Given the description of an element on the screen output the (x, y) to click on. 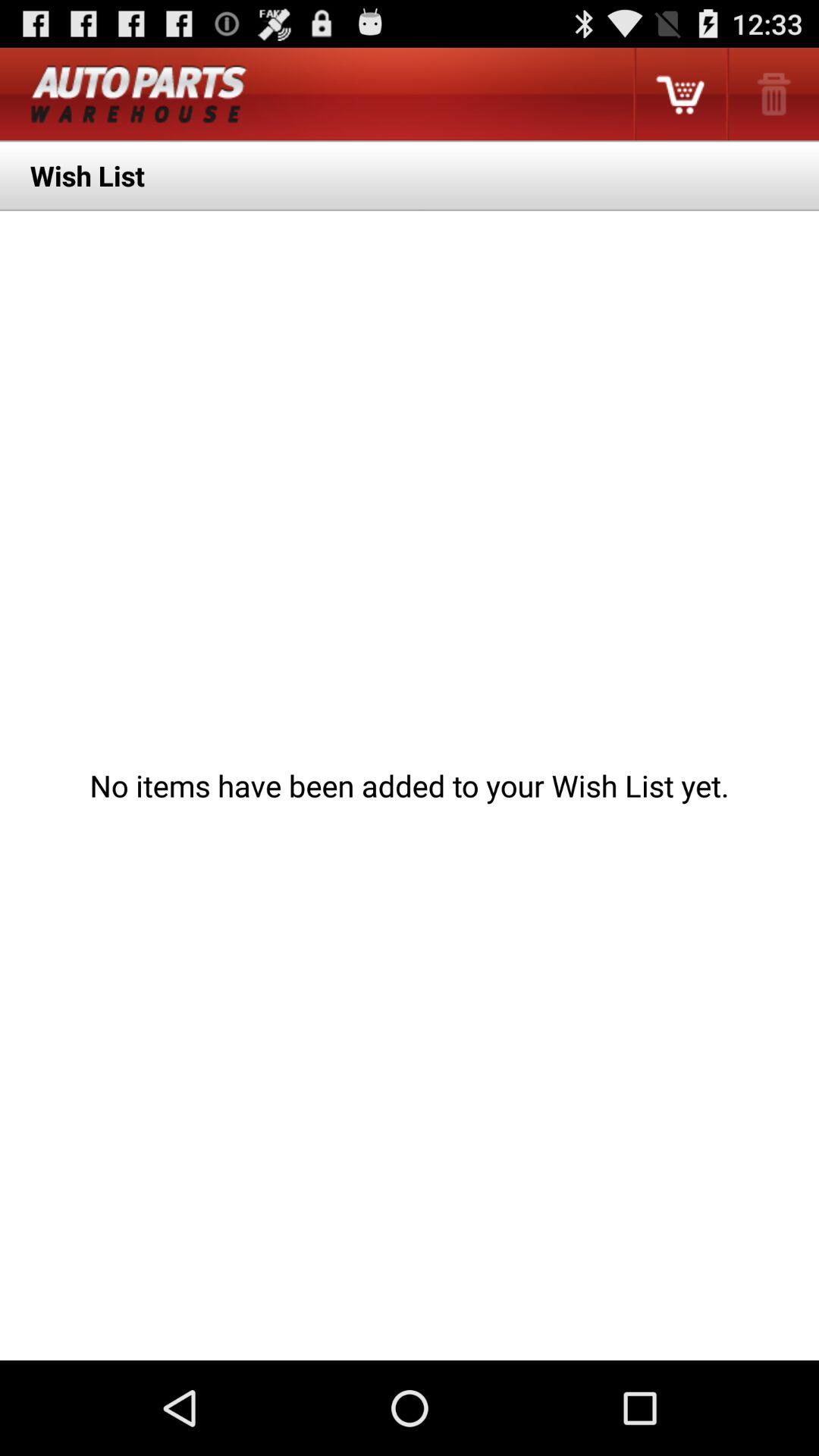
main page (138, 93)
